Given the description of an element on the screen output the (x, y) to click on. 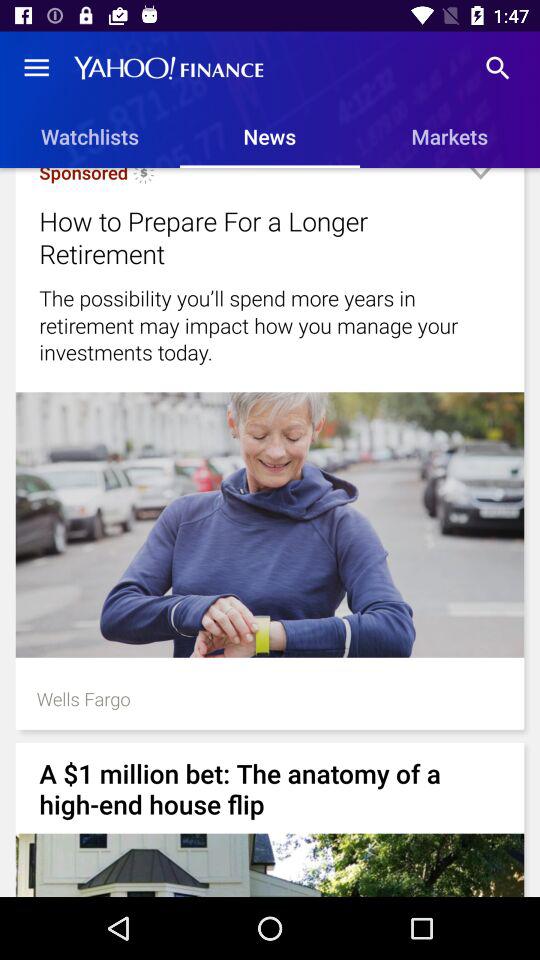
scroll until the the possibility you item (269, 325)
